Given the description of an element on the screen output the (x, y) to click on. 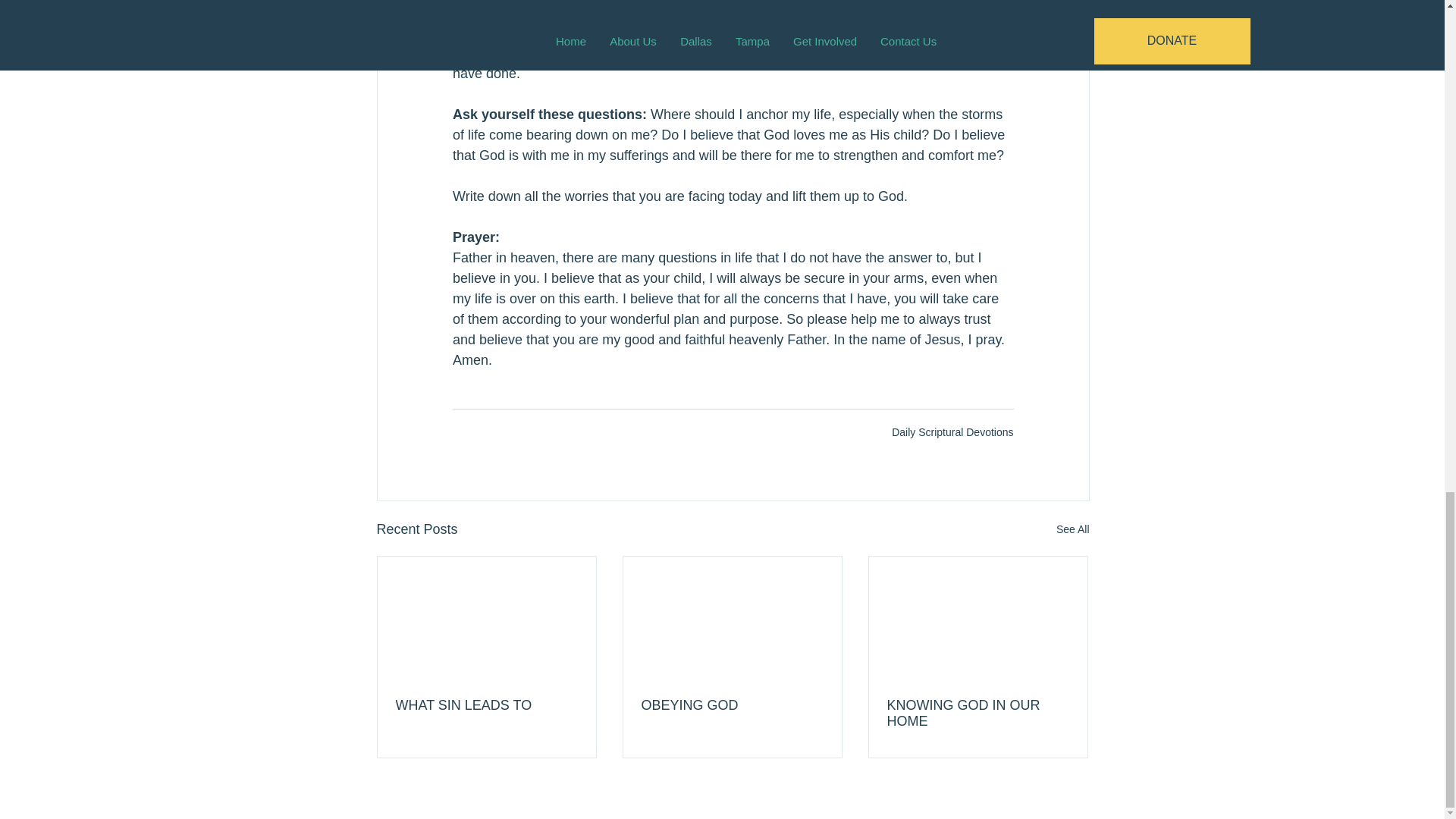
Daily Scriptural Devotions (952, 431)
KNOWING GOD IN OUR HOME (977, 713)
OBEYING GOD (733, 705)
See All (1073, 529)
WHAT SIN LEADS TO (487, 705)
